Given the description of an element on the screen output the (x, y) to click on. 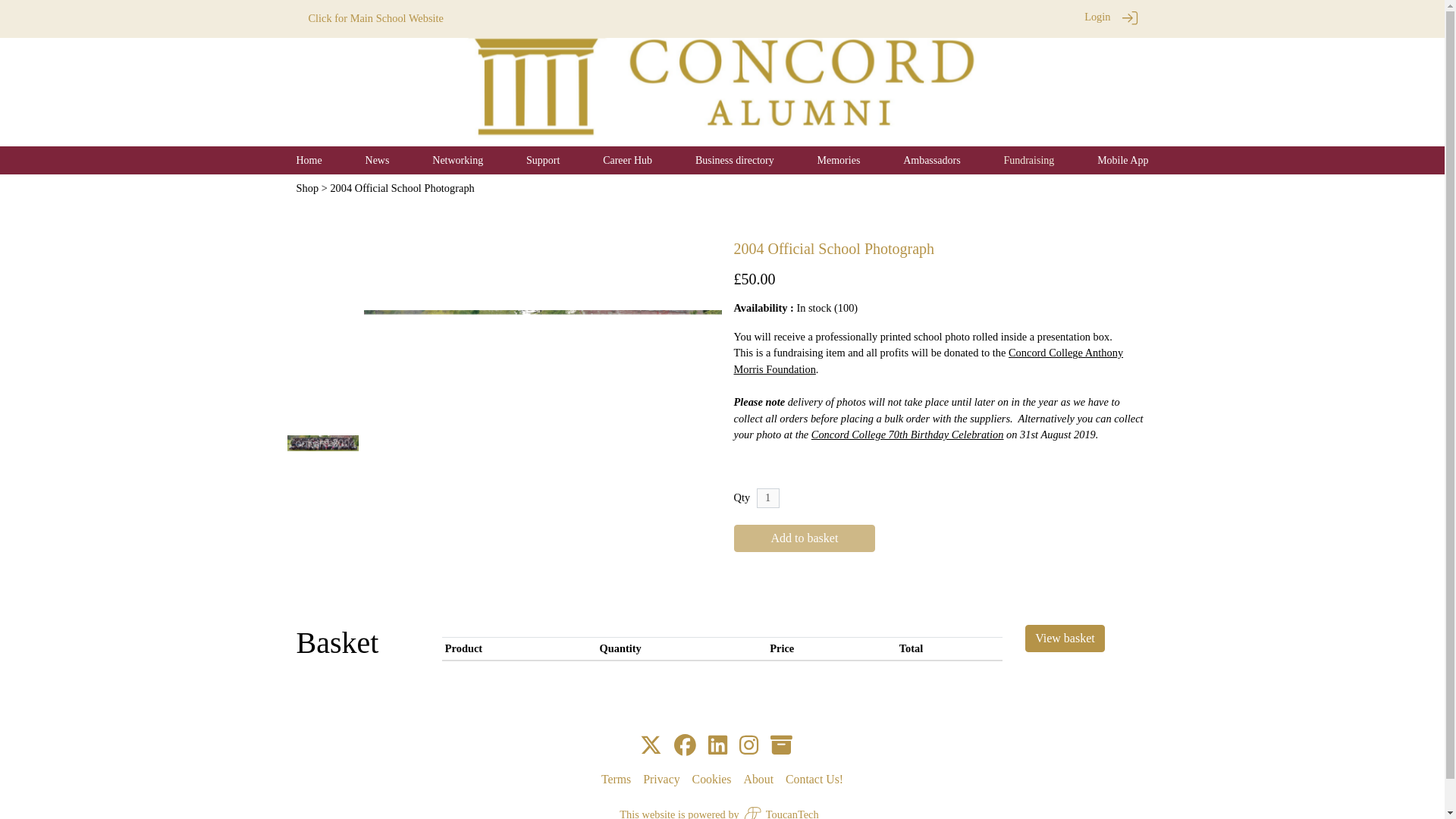
Click for Main School Website (374, 18)
Home (308, 160)
Mobile App (1122, 160)
Support (542, 160)
Login (1096, 16)
Twitter (651, 745)
Business directory (734, 160)
News (377, 160)
Fundraising (1028, 160)
Facebook (684, 745)
